Given the description of an element on the screen output the (x, y) to click on. 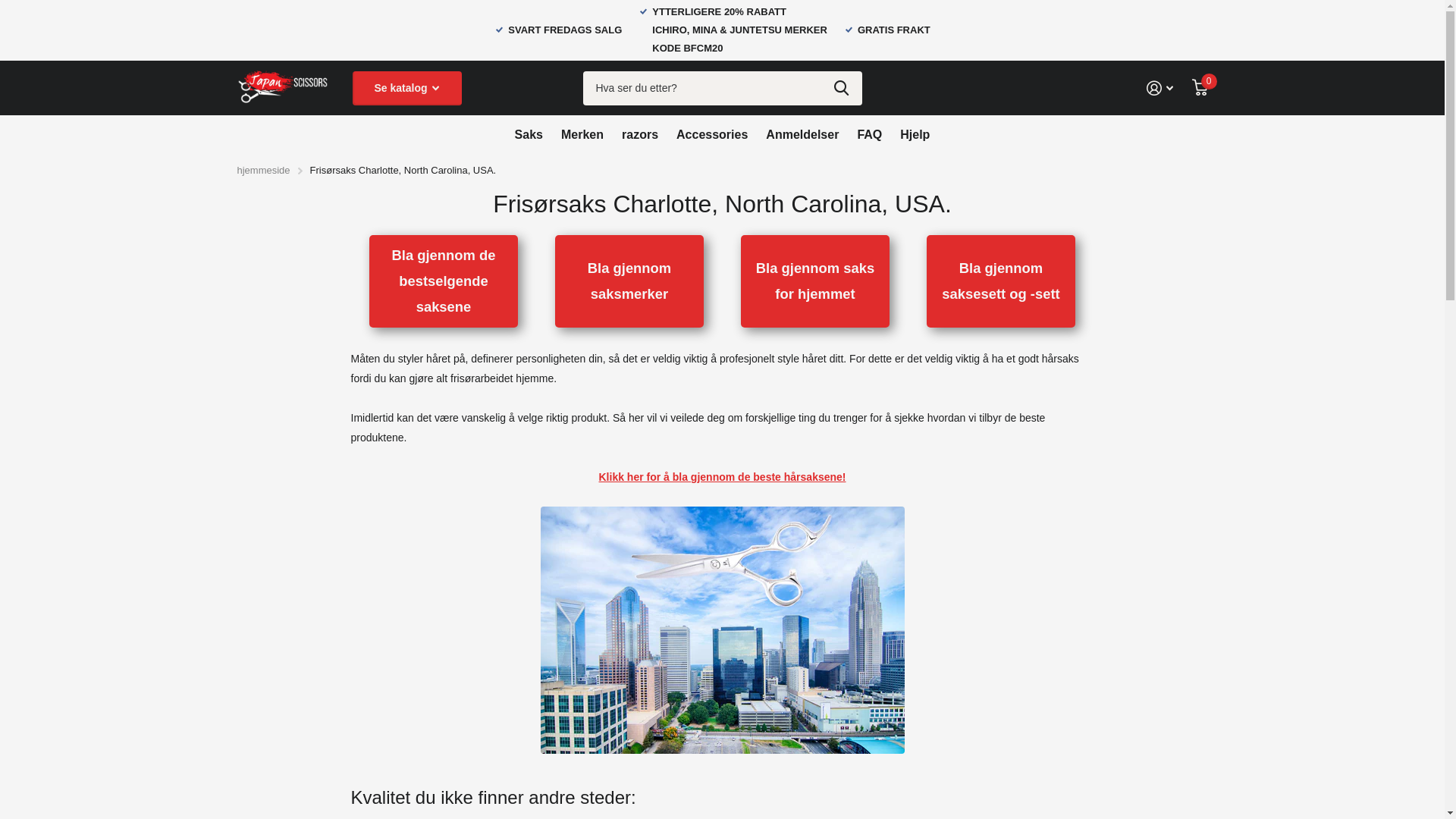
Se katalog Element type: text (406, 88)
Bla gjennom saks for hjemmet Element type: text (814, 281)
Saks Element type: text (528, 134)
Hjelp Element type: text (914, 134)
Anmeldelser Element type: text (801, 134)
Bla gjennom saksmerker Element type: text (629, 281)
0 Element type: text (1200, 87)
Bla gjennom de bestselgende saksene Element type: text (443, 281)
razors Element type: text (639, 134)
hjemmeside Element type: text (262, 169)
Accessories Element type: text (711, 134)
FAQ Element type: text (868, 134)
Bla gjennom saksesett og -sett Element type: text (1000, 281)
Merken Element type: text (582, 134)
